Given the description of an element on the screen output the (x, y) to click on. 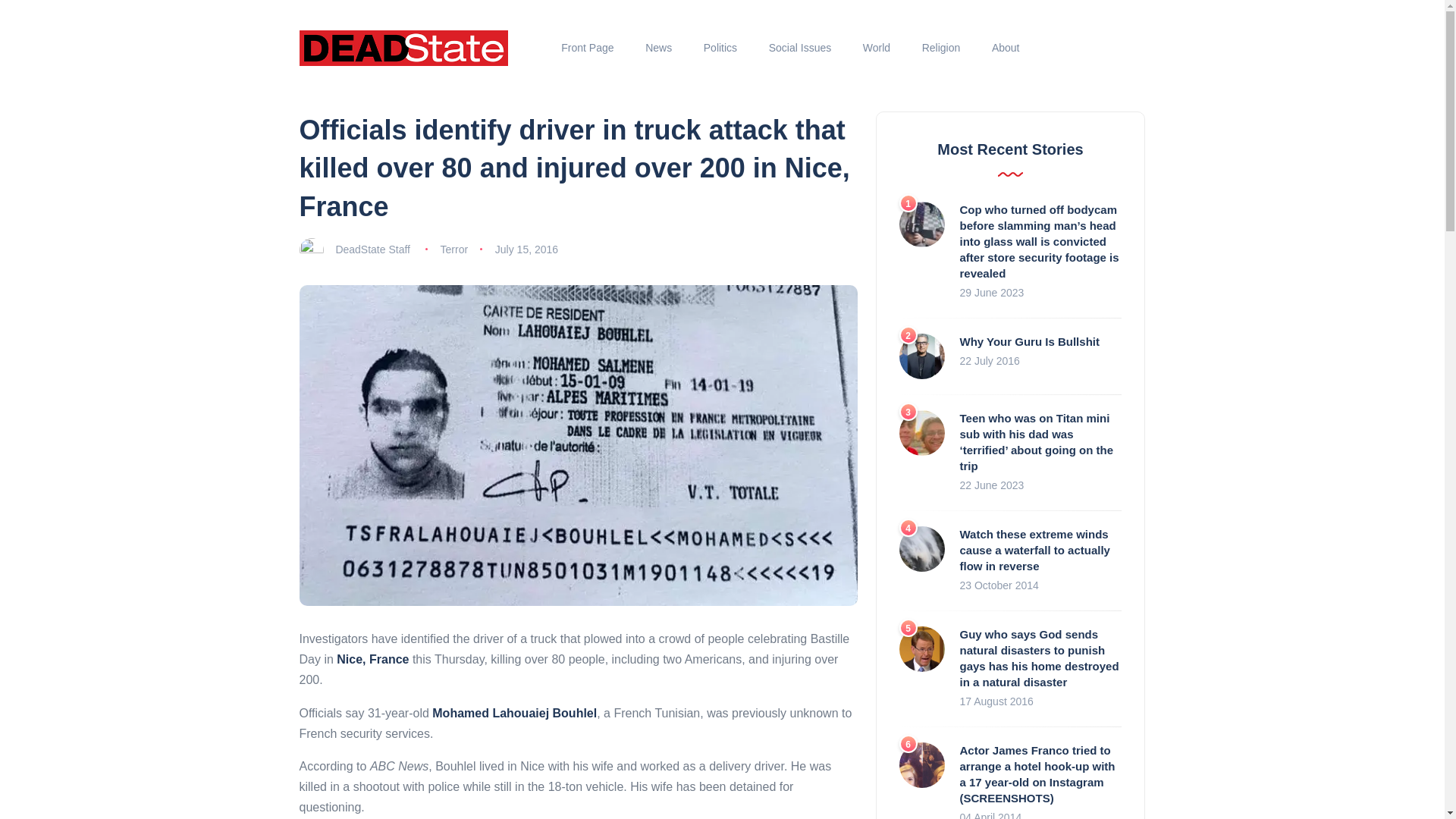
Politics (719, 47)
News (657, 47)
Front Page (588, 47)
Religion (940, 47)
Posts by DeadState Staff (372, 249)
Terror (454, 249)
About (1005, 47)
Social Issues (799, 47)
DeadState Staff (372, 249)
World (876, 47)
